Given the description of an element on the screen output the (x, y) to click on. 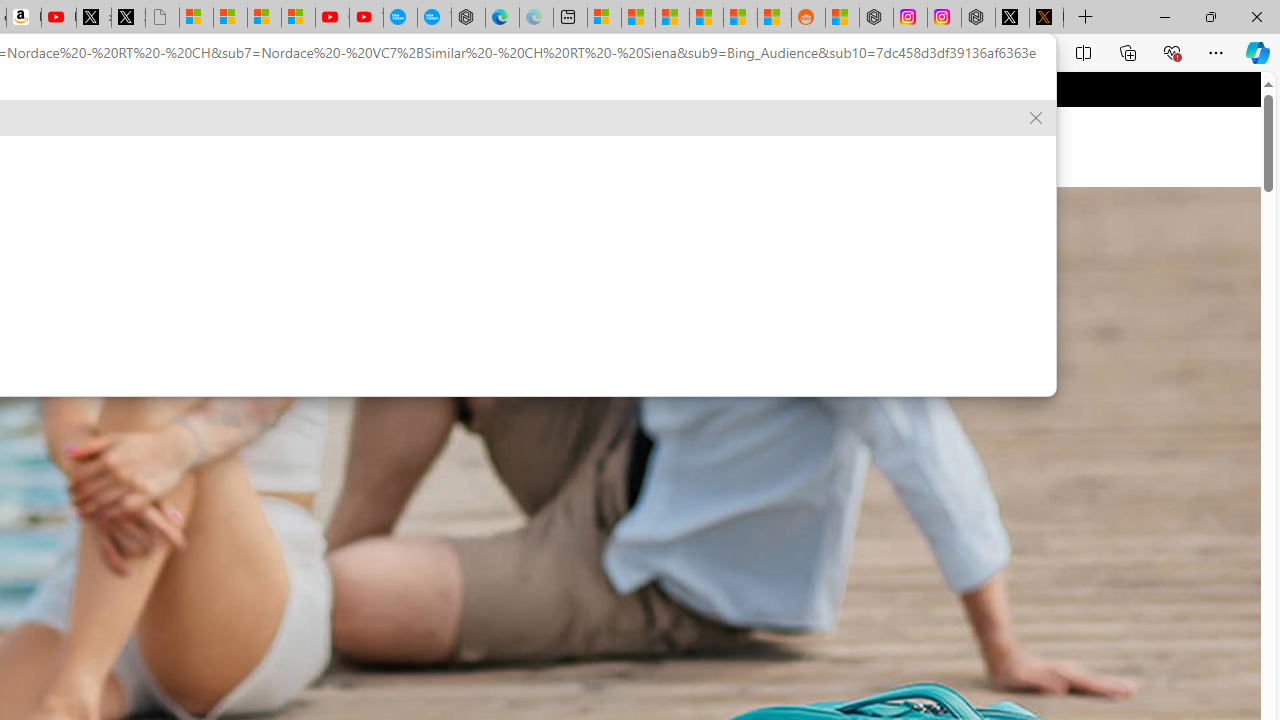
Day 1: Arriving in Yemen (surreal to be here) - YouTube (58, 17)
  0   (679, 146)
Shanghai, China weather forecast | Microsoft Weather (638, 17)
Close (1256, 16)
Nordace (@NordaceOfficial) / X (1012, 17)
Minimize (1164, 16)
Nordace - Nordace has arrived Hong Kong (468, 17)
